Given the description of an element on the screen output the (x, y) to click on. 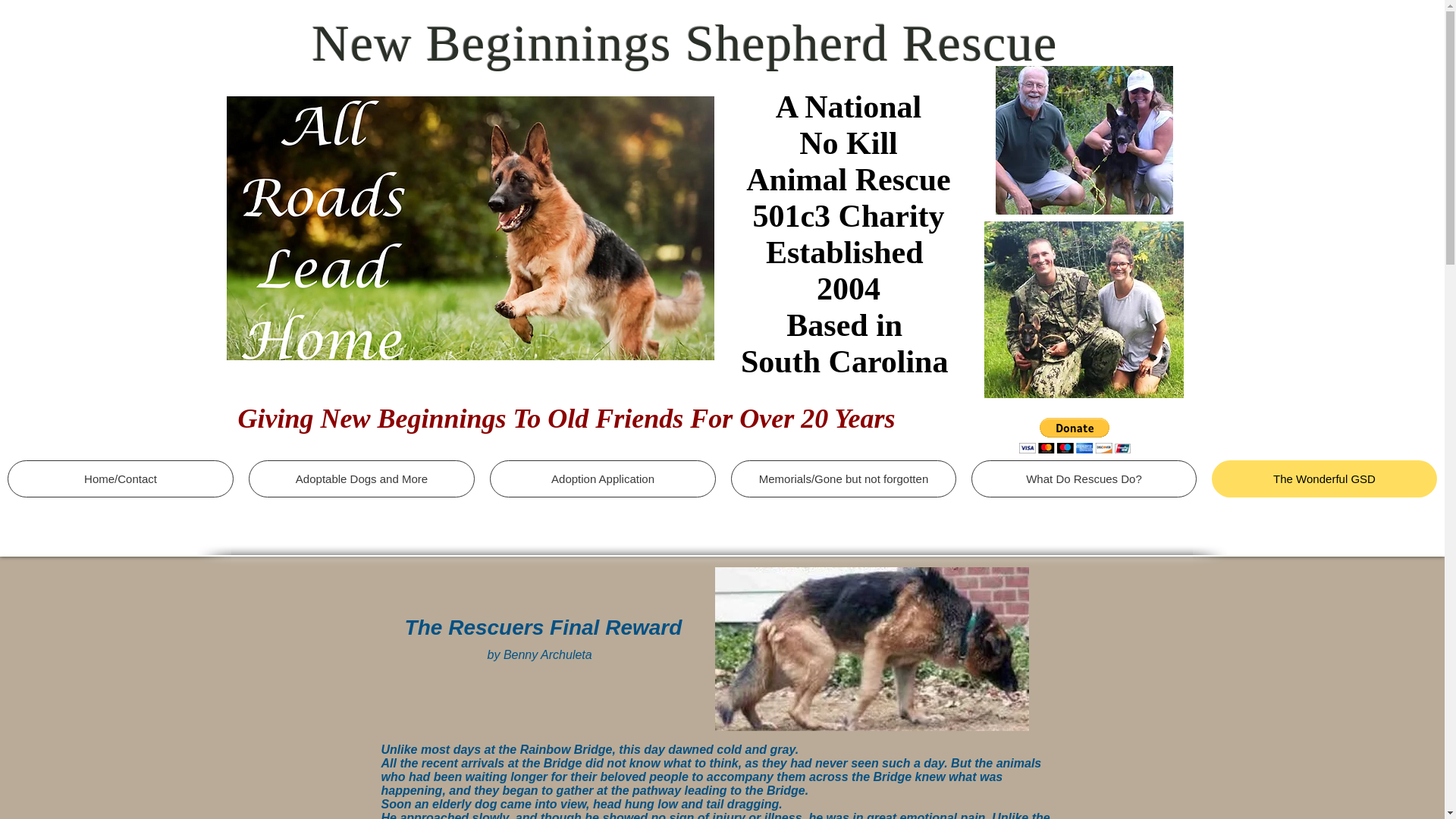
Adoption Application (602, 478)
Adoptable Dogs and More (361, 478)
The Wonderful GSD (1324, 478)
What Do Rescues Do? (1083, 478)
